Given the description of an element on the screen output the (x, y) to click on. 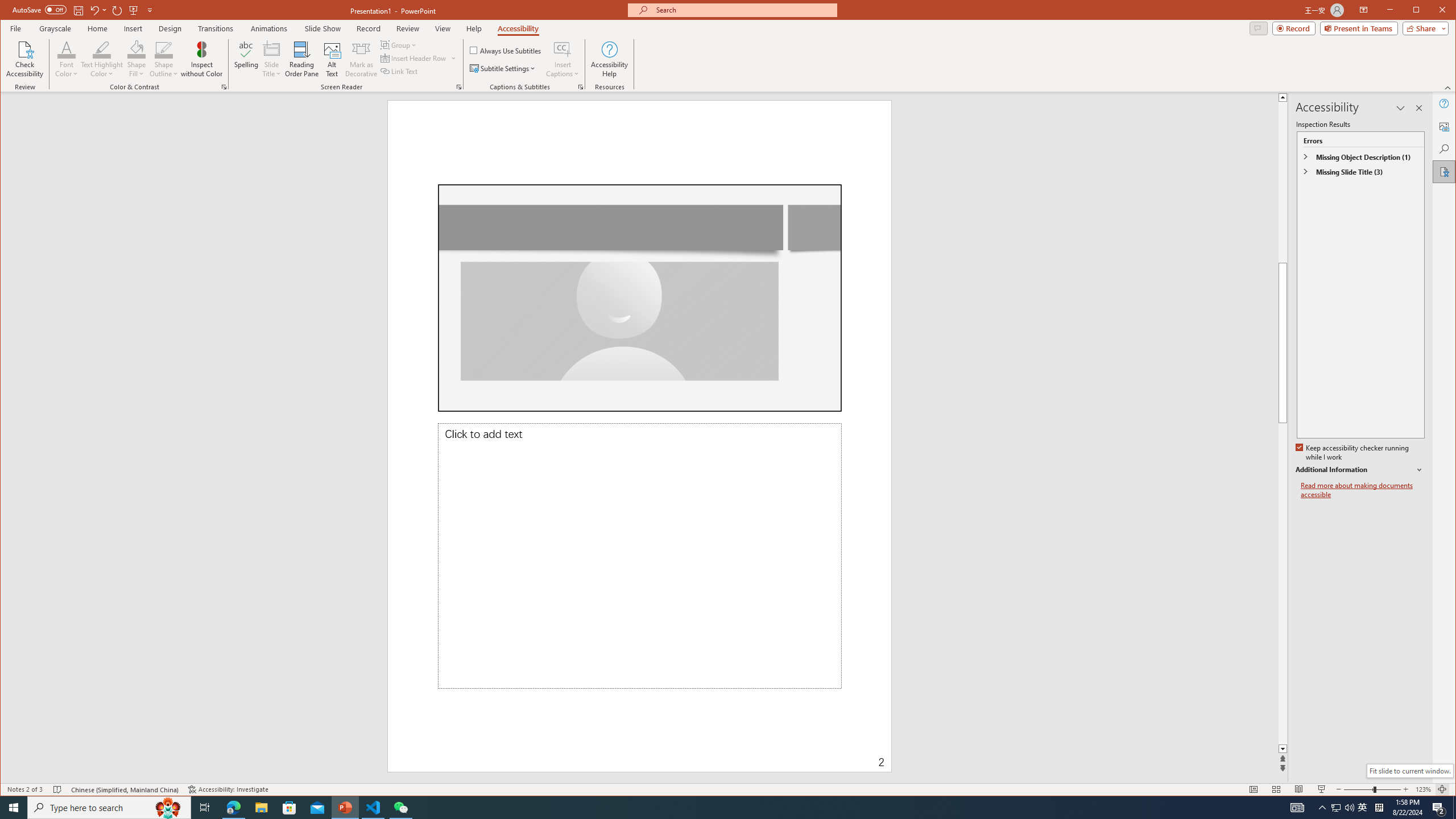
Subtitle Settings (502, 68)
Insert Header Row (418, 57)
Shape Outline Blue, Accent 1 (163, 48)
Running applications (707, 807)
